Given the description of an element on the screen output the (x, y) to click on. 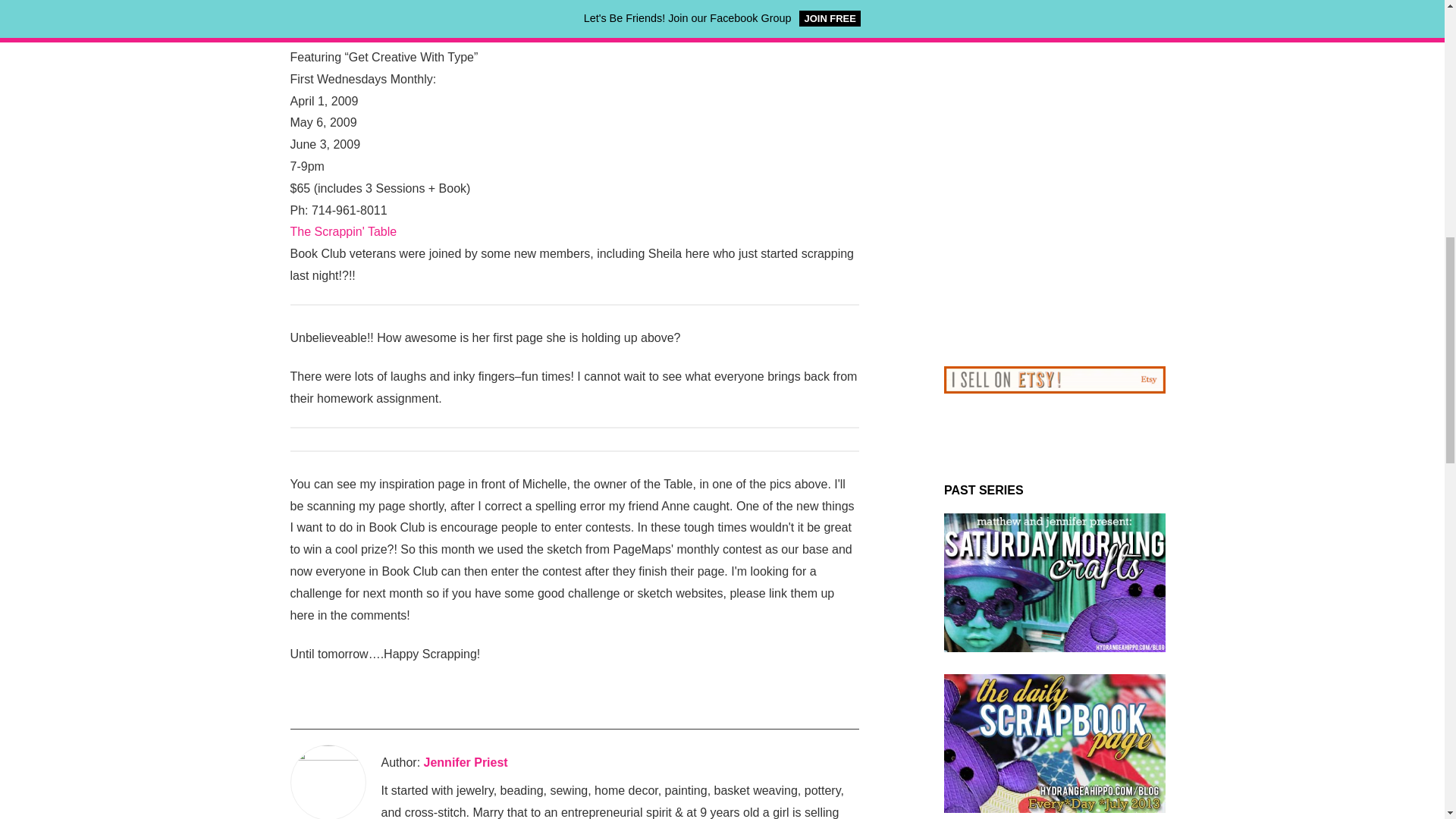
BOOK CLUB (324, 35)
The Scrappin' Table (342, 232)
Jennifer Priest (465, 762)
